Given the description of an element on the screen output the (x, y) to click on. 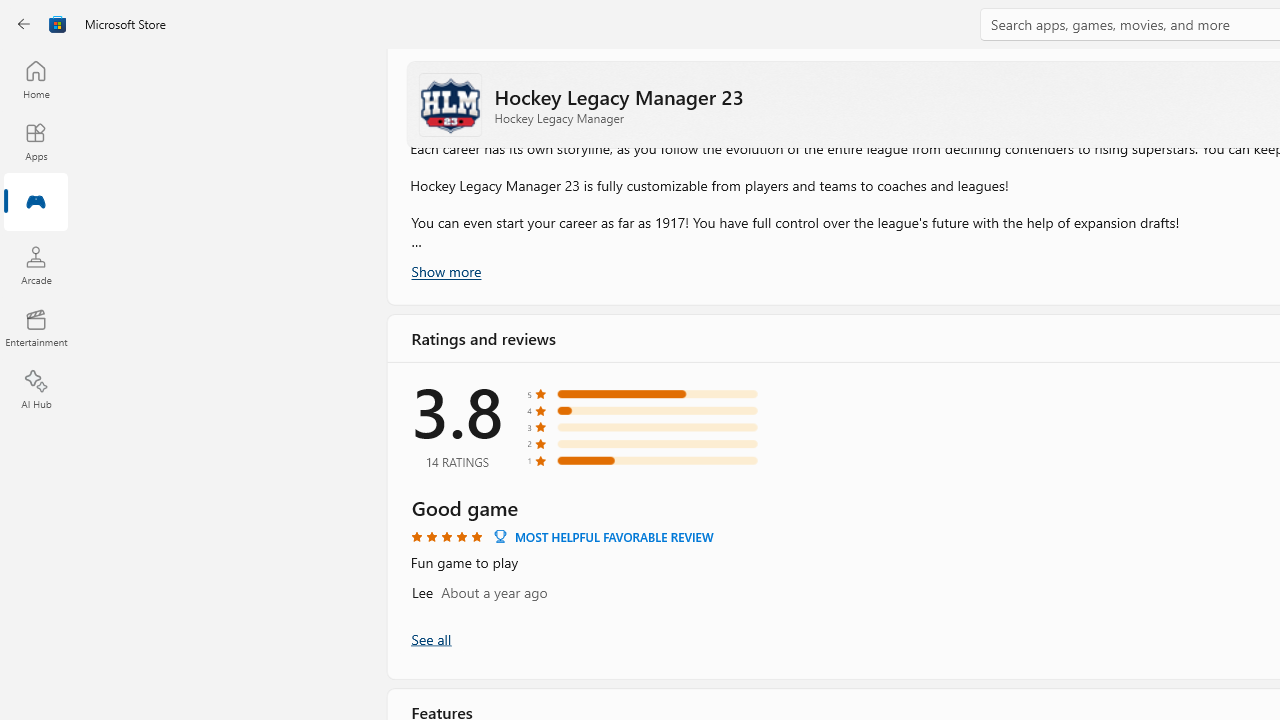
Show more (445, 271)
Class: Image (58, 24)
Entertainment (35, 327)
Back (24, 24)
Arcade (35, 265)
Apps (35, 141)
Show all ratings and reviews (430, 637)
AI Hub (35, 390)
Home (35, 79)
Gaming (35, 203)
